Given the description of an element on the screen output the (x, y) to click on. 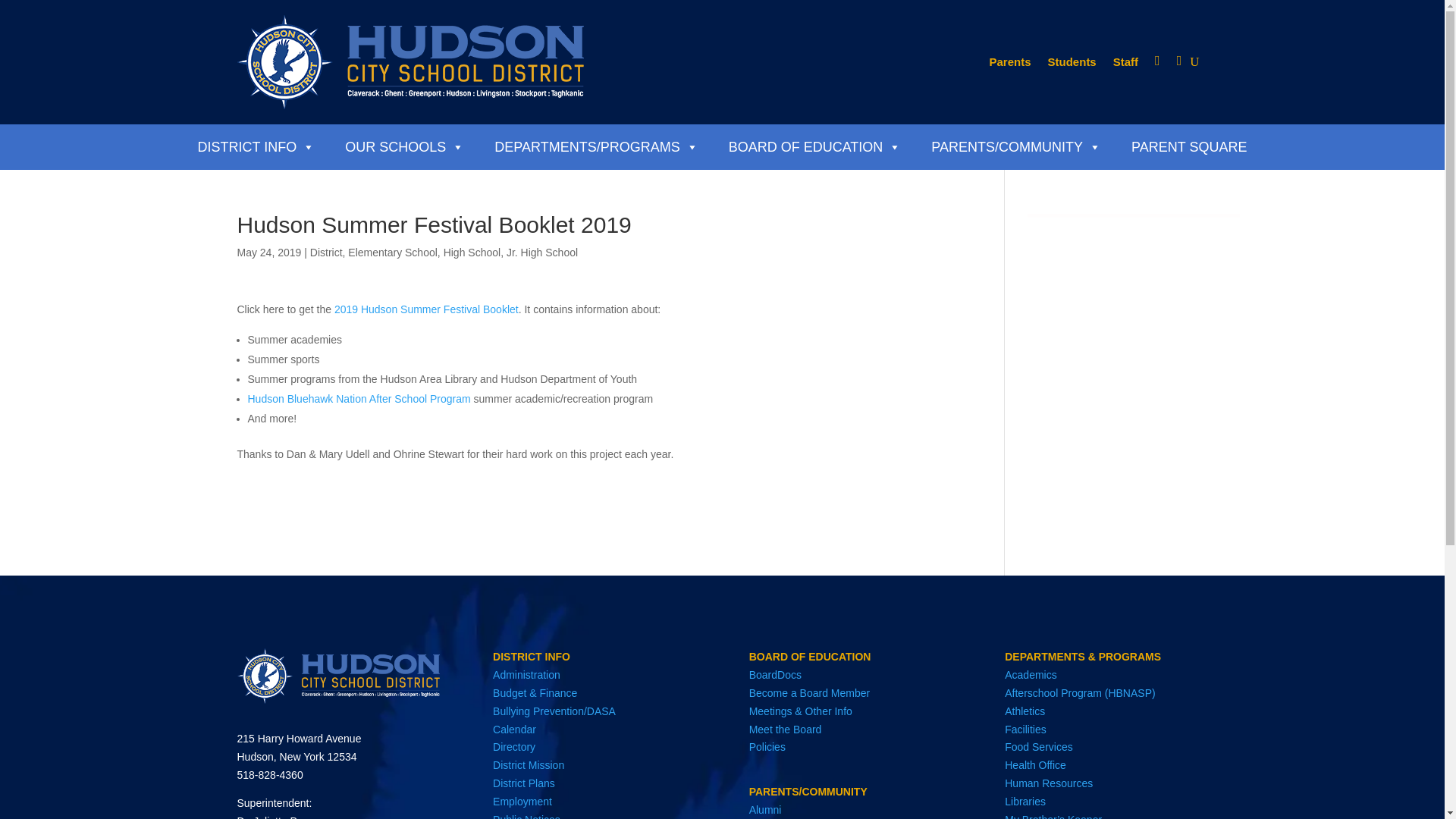
HU Banner2024 adjusted (337, 675)
DISTRICT INFO (256, 146)
